Given the description of an element on the screen output the (x, y) to click on. 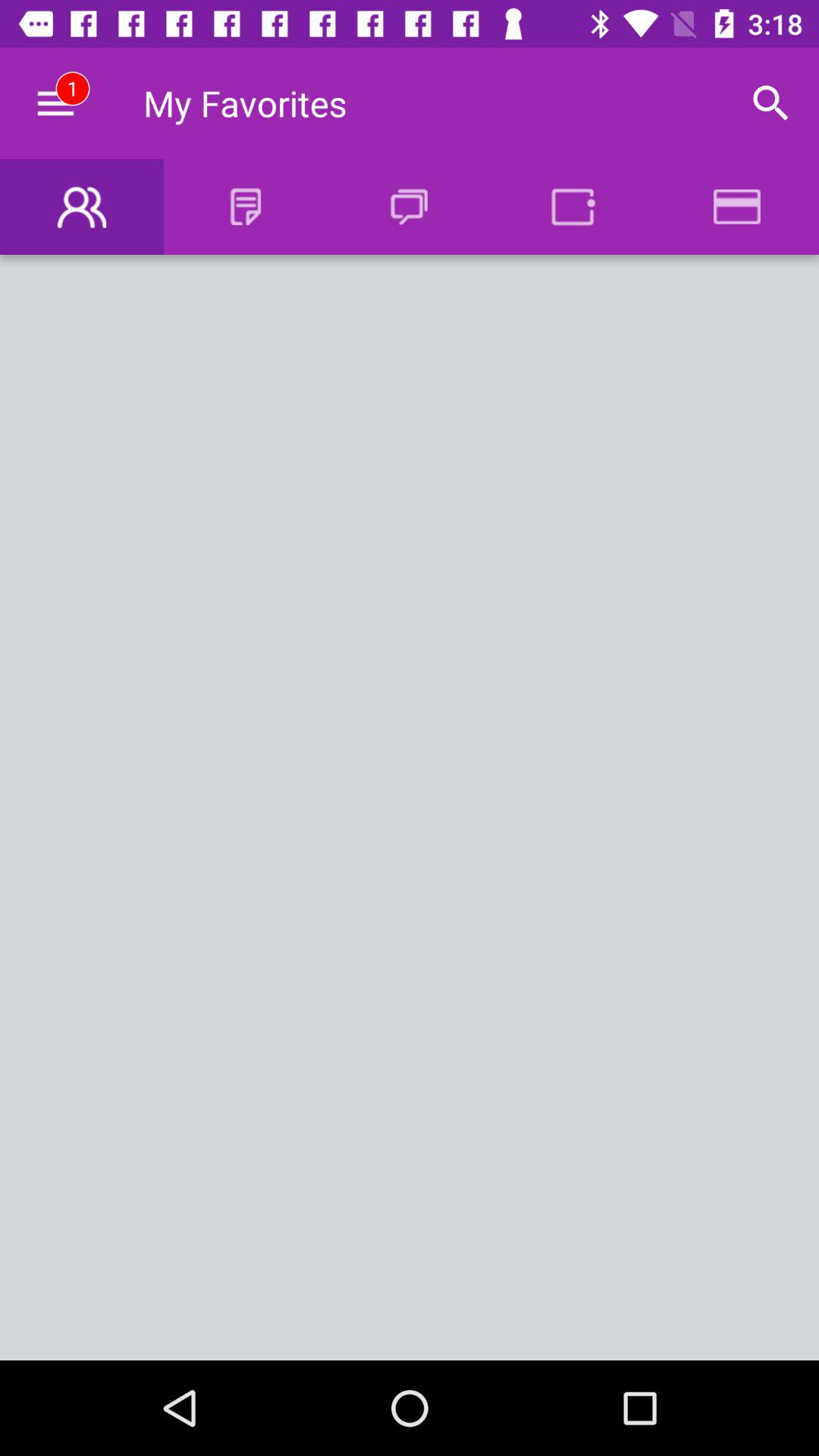
tap the icon next to my favorites item (771, 103)
